Given the description of an element on the screen output the (x, y) to click on. 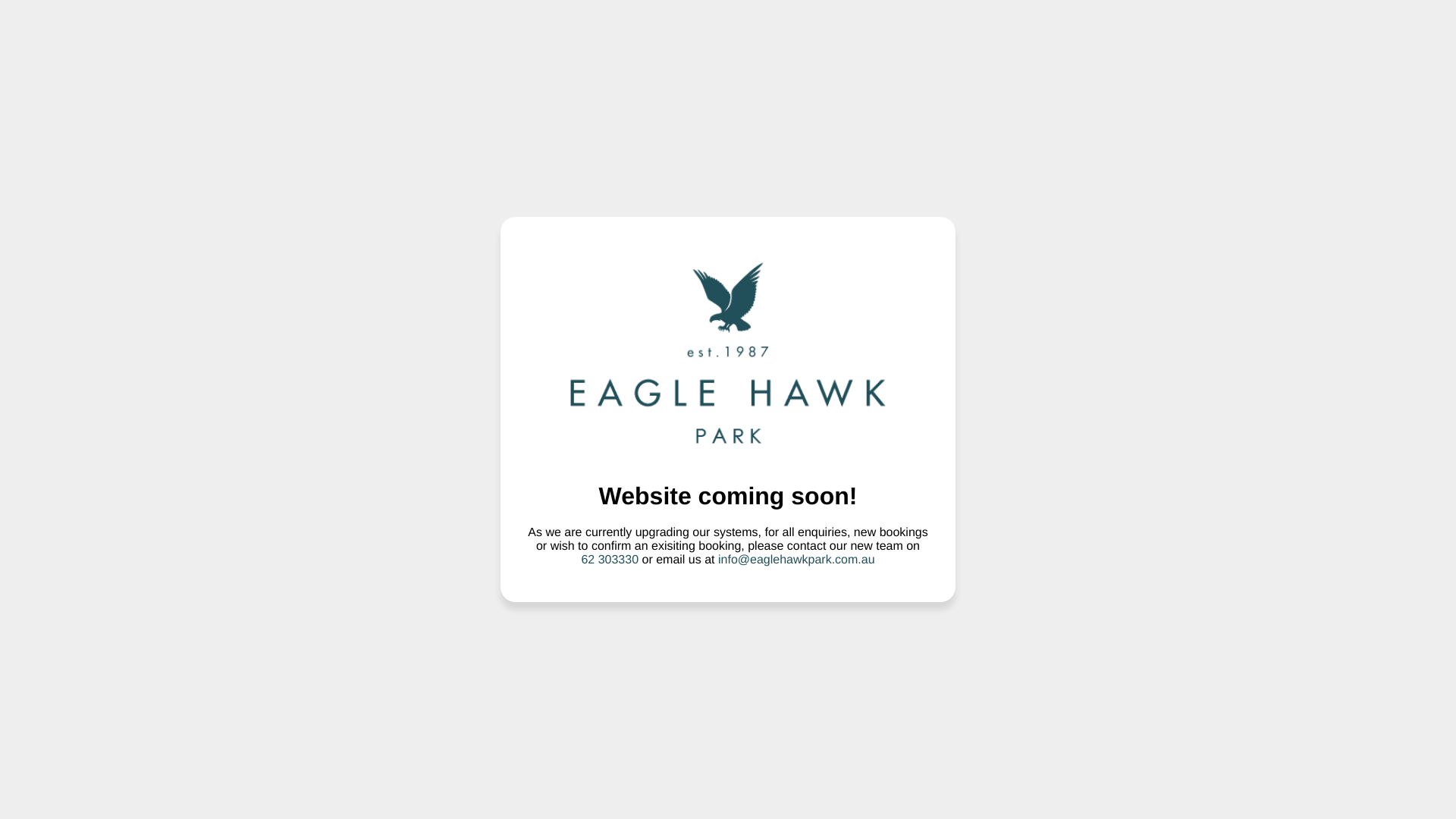
62 303330 Element type: text (609, 559)
info@eaglehawkpark.com.au Element type: text (796, 559)
